Given the description of an element on the screen output the (x, y) to click on. 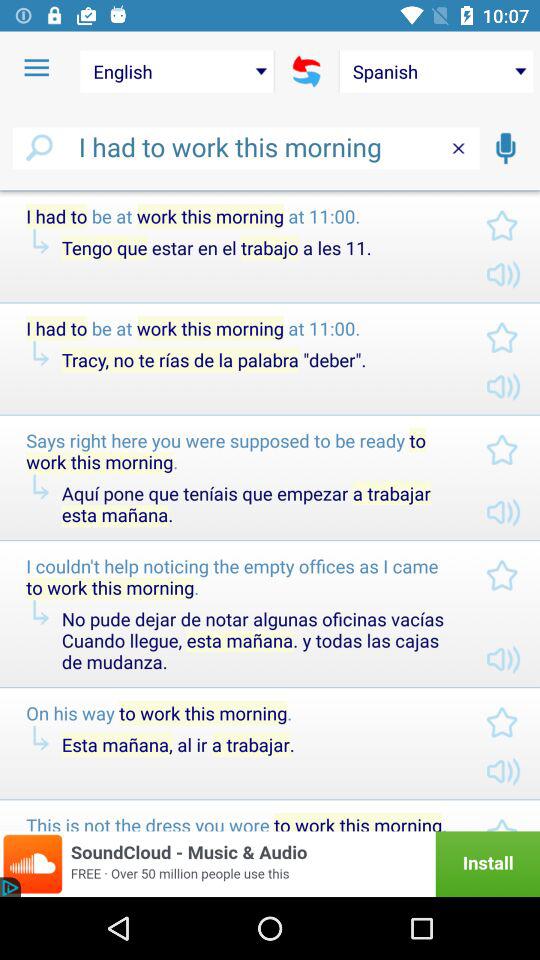
launch the icon to the right of the english (306, 71)
